Given the description of an element on the screen output the (x, y) to click on. 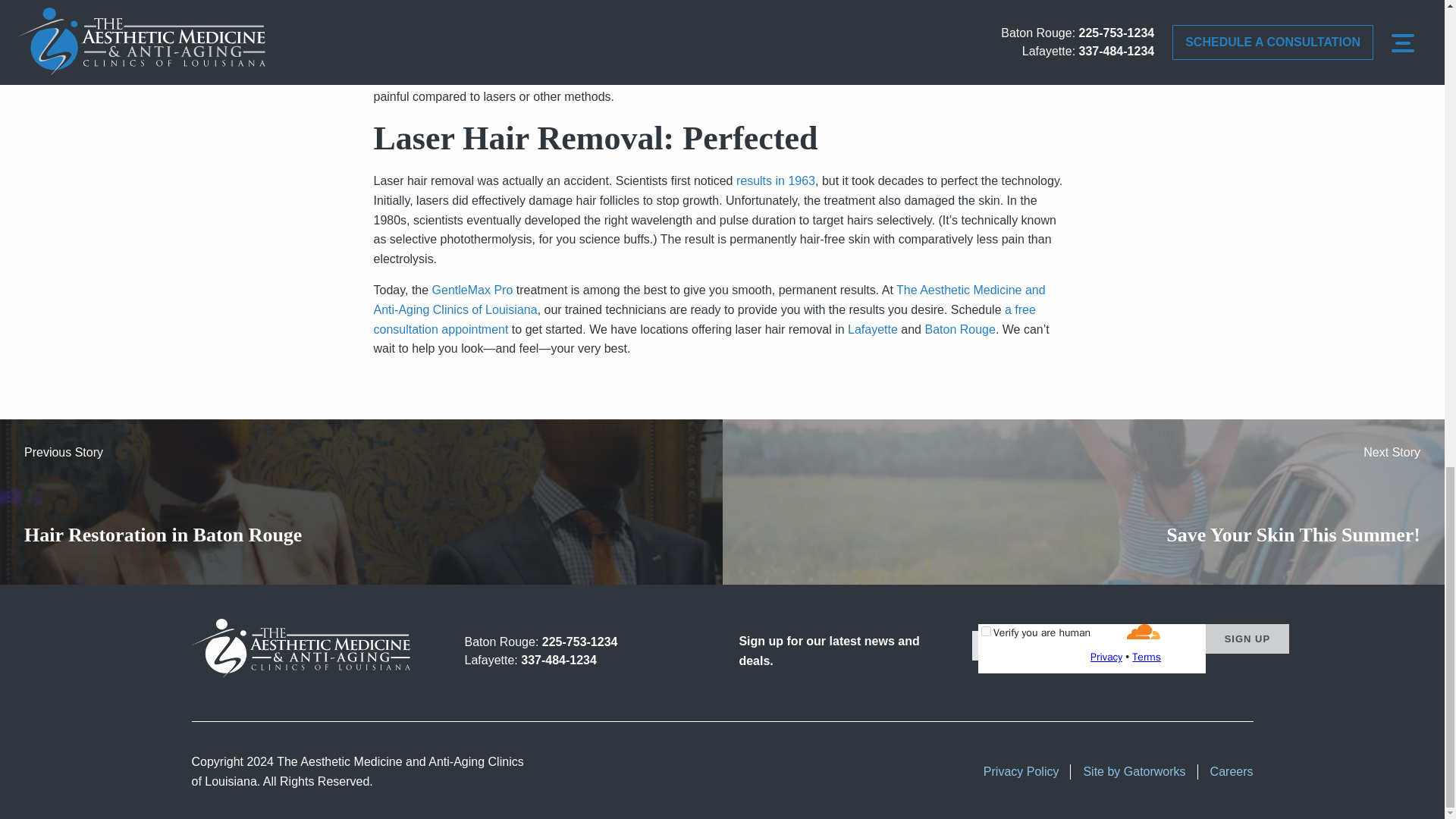
Sign Up (1246, 638)
